Given the description of an element on the screen output the (x, y) to click on. 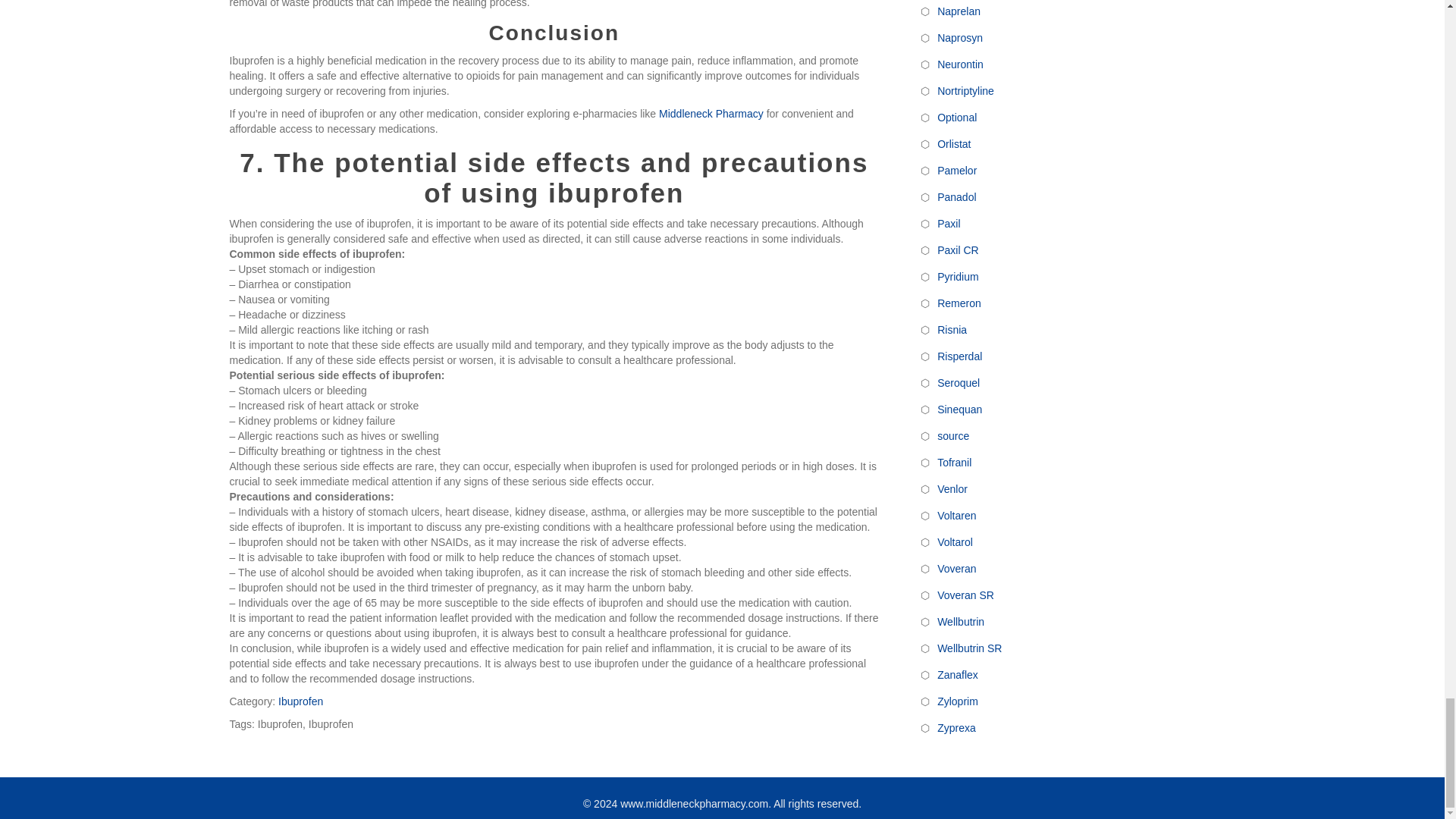
Middleneck Pharmacy (710, 113)
Ibuprofen (300, 701)
